Given the description of an element on the screen output the (x, y) to click on. 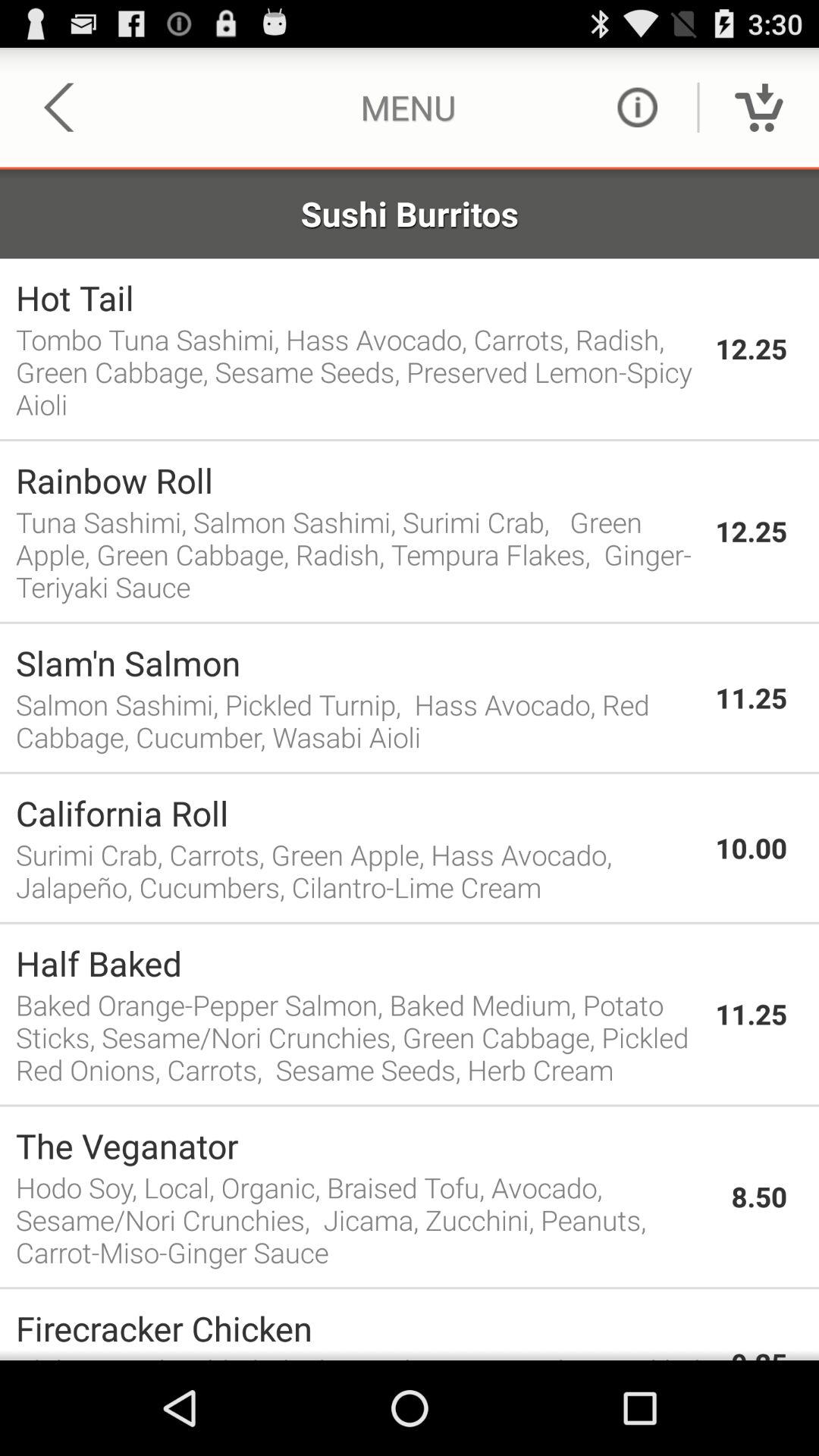
flip to california roll icon (357, 812)
